Given the description of an element on the screen output the (x, y) to click on. 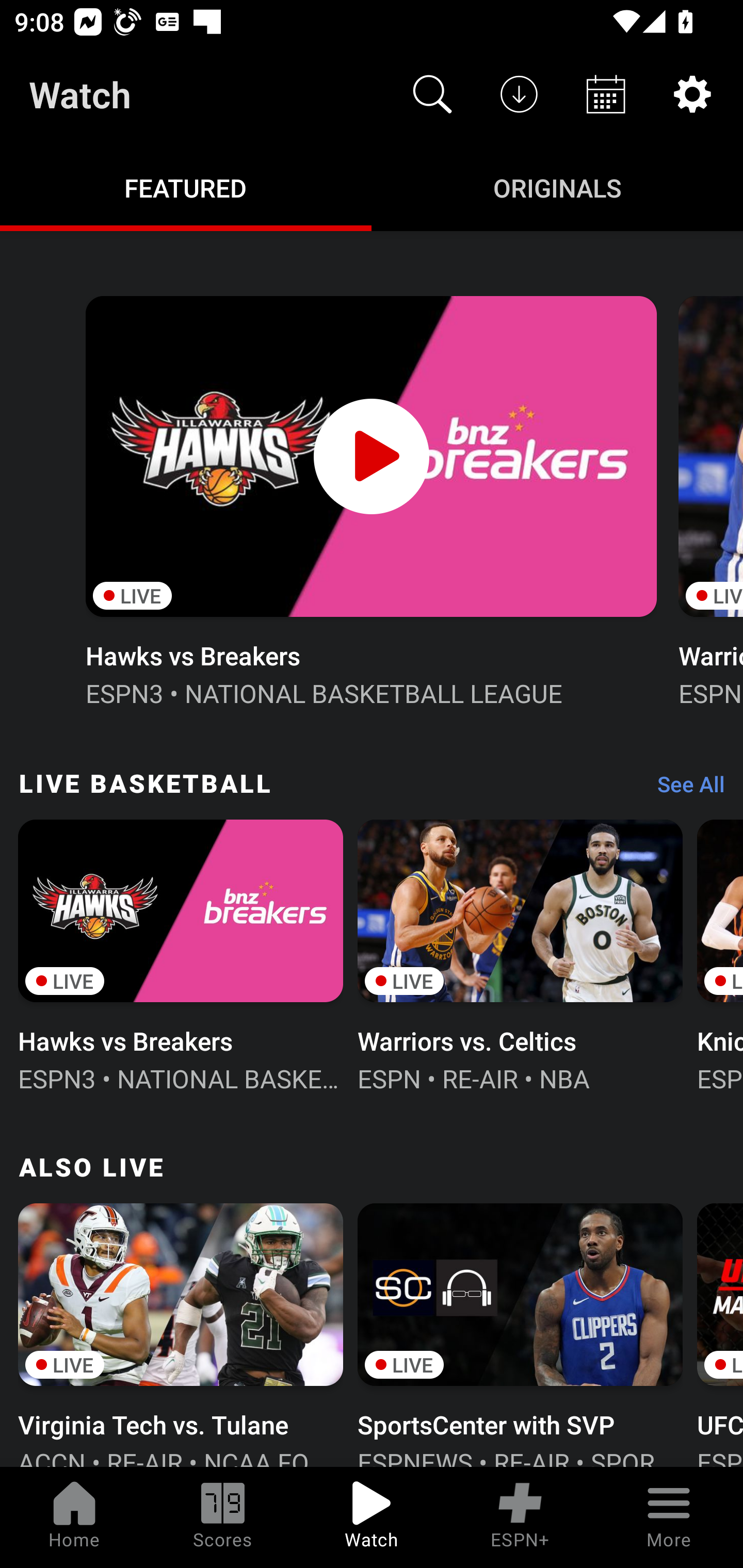
Search (432, 93)
Downloads (518, 93)
Schedule (605, 93)
Settings (692, 93)
Originals ORIGINALS (557, 187)
See All (683, 788)
LIVE Warriors vs. Celtics ESPN • RE-AIR • NBA (519, 954)
Home (74, 1517)
Scores (222, 1517)
ESPN+ (519, 1517)
More (668, 1517)
